Given the description of an element on the screen output the (x, y) to click on. 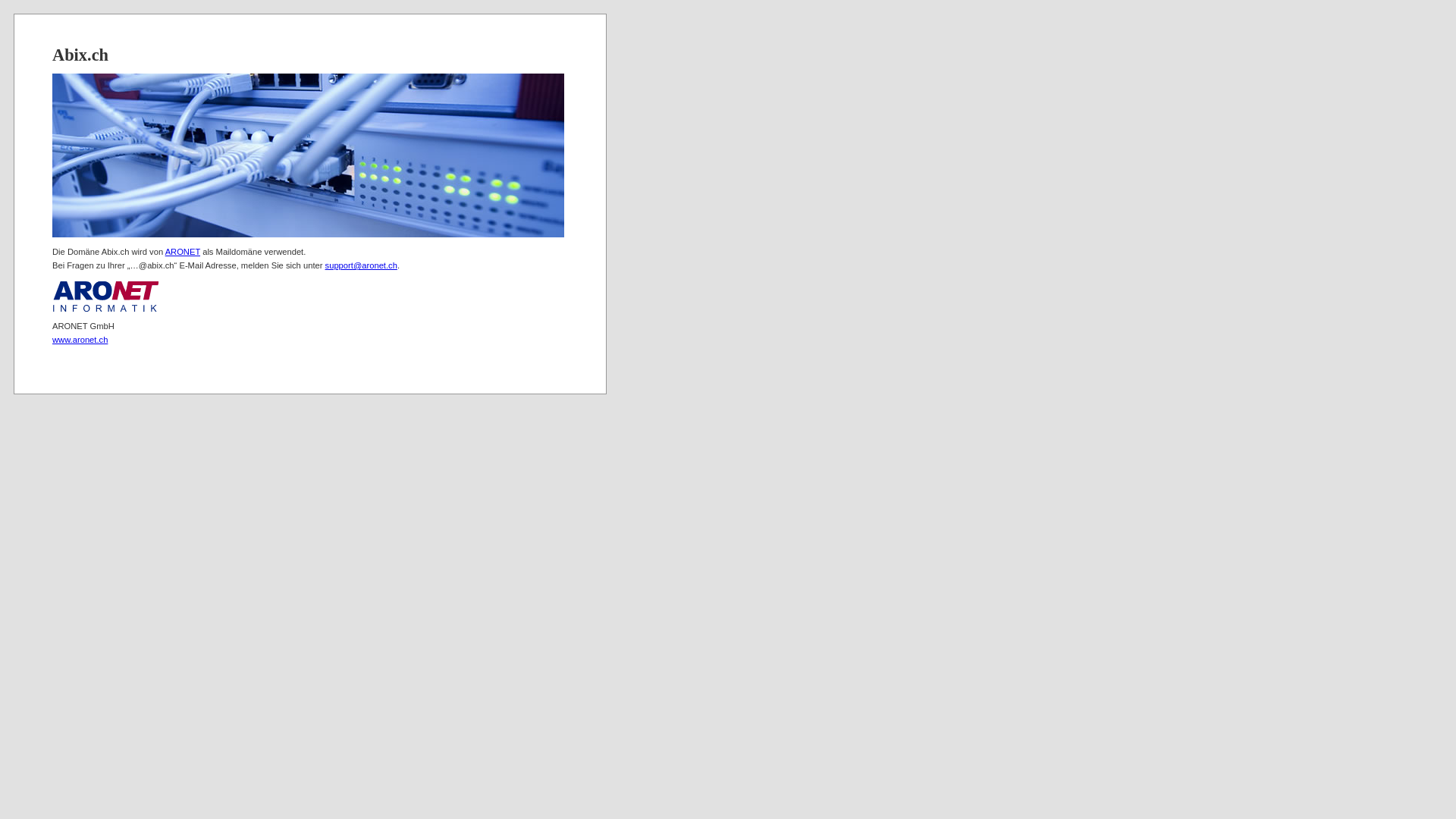
www.aronet.ch Element type: text (79, 339)
ARONET Element type: text (182, 251)
support@aronet.ch Element type: text (361, 264)
